Given the description of an element on the screen output the (x, y) to click on. 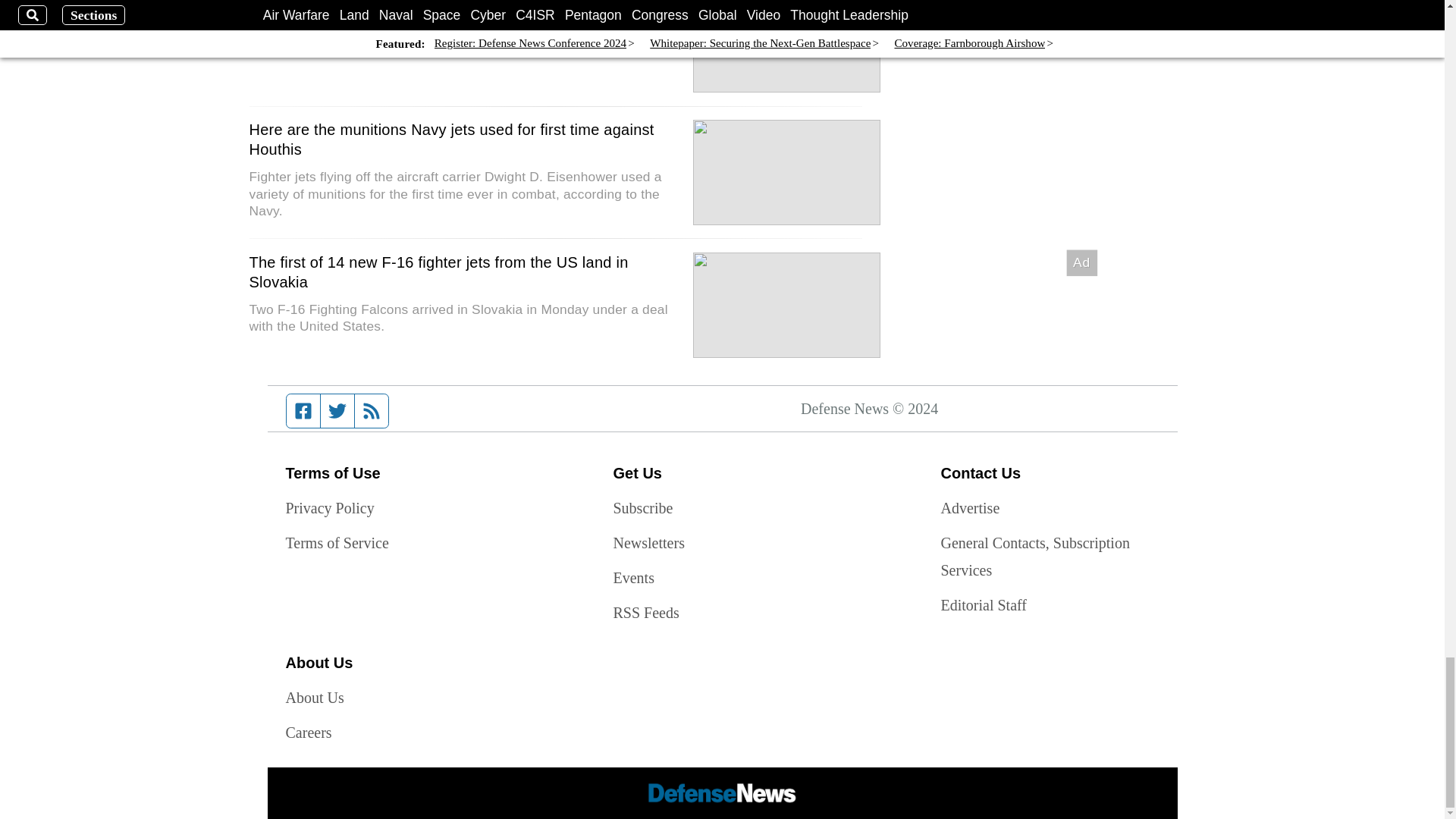
Facebook page (303, 410)
Twitter feed (336, 410)
RSS feed (371, 410)
